Given the description of an element on the screen output the (x, y) to click on. 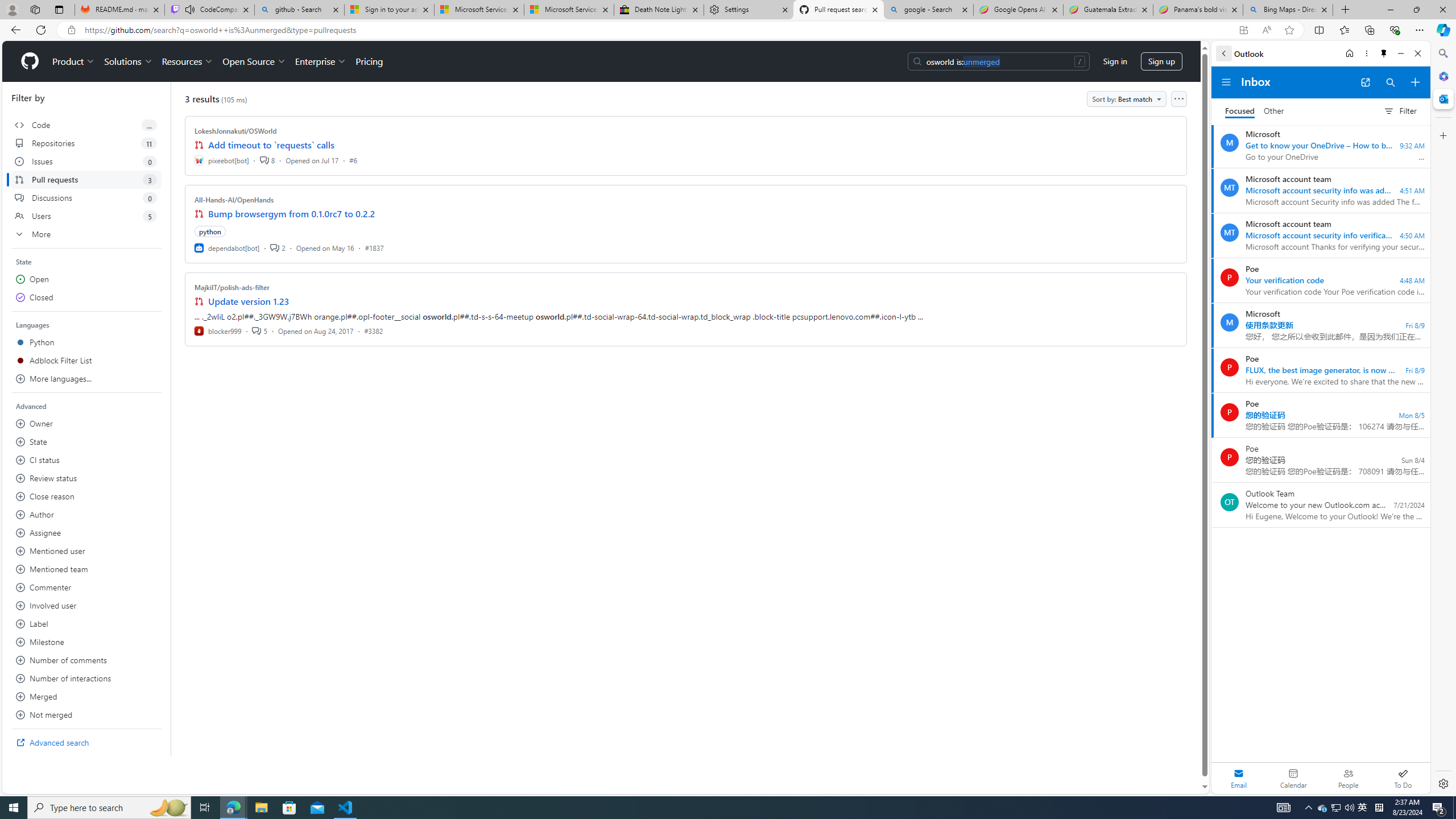
#6 (352, 159)
Folder navigation (1225, 82)
#1837 (374, 247)
Product (74, 60)
To Do (1402, 777)
